Given the description of an element on the screen output the (x, y) to click on. 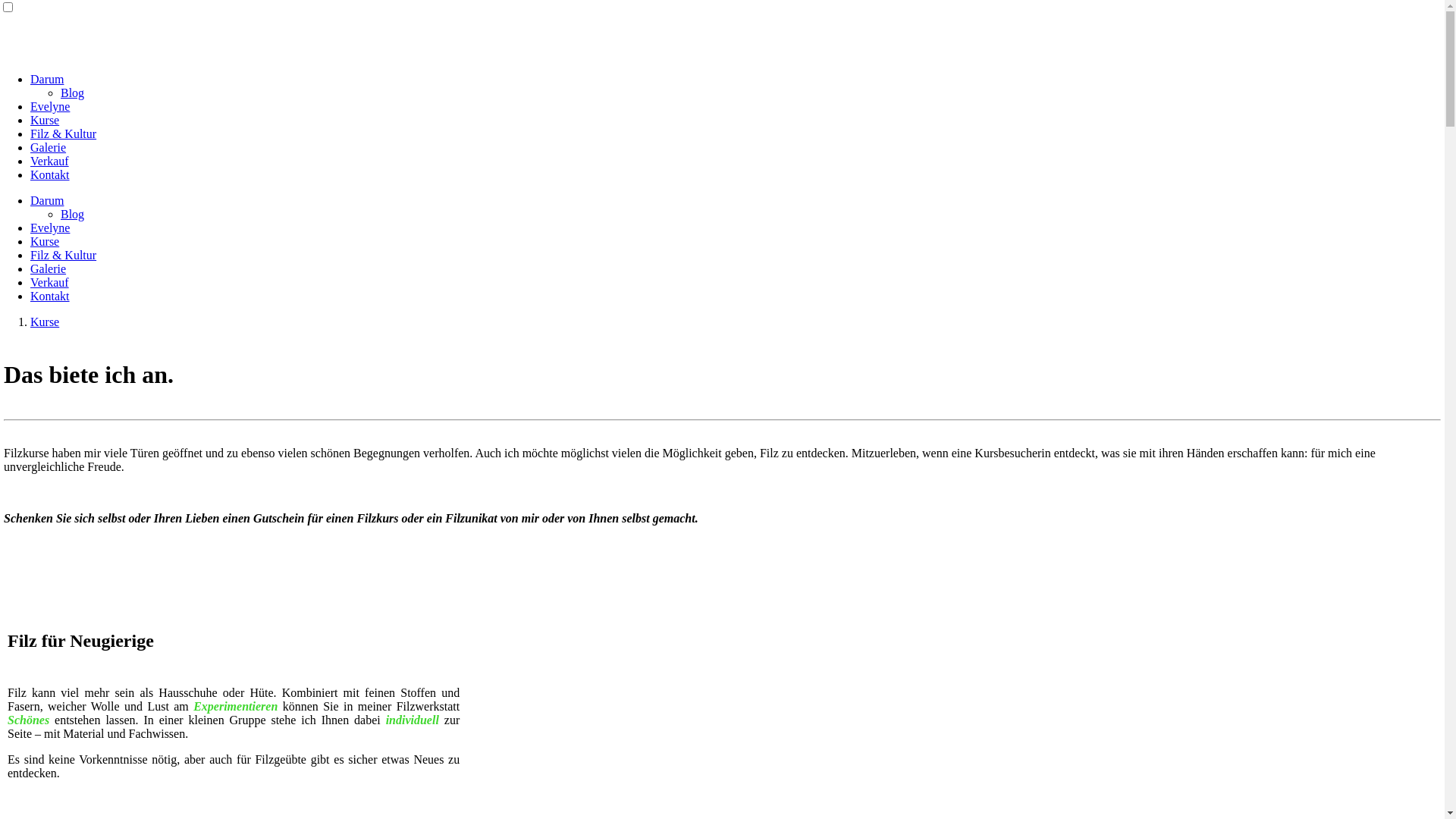
Filz & Kultur Element type: text (63, 254)
Darum Element type: text (46, 78)
Filz & Kultur Element type: text (63, 133)
Verkauf Element type: text (49, 160)
Kontakt Element type: text (49, 174)
Evelyne Element type: text (49, 106)
Kurse Element type: text (44, 119)
Darum Element type: text (46, 200)
Blog Element type: text (72, 213)
Galerie Element type: text (47, 268)
Kontakt Element type: text (49, 295)
Kurse Element type: text (44, 241)
Verkauf Element type: text (49, 282)
Blog Element type: text (72, 92)
Evelyne Element type: text (49, 227)
Galerie Element type: text (47, 147)
Kurse Element type: text (44, 321)
